Given the description of an element on the screen output the (x, y) to click on. 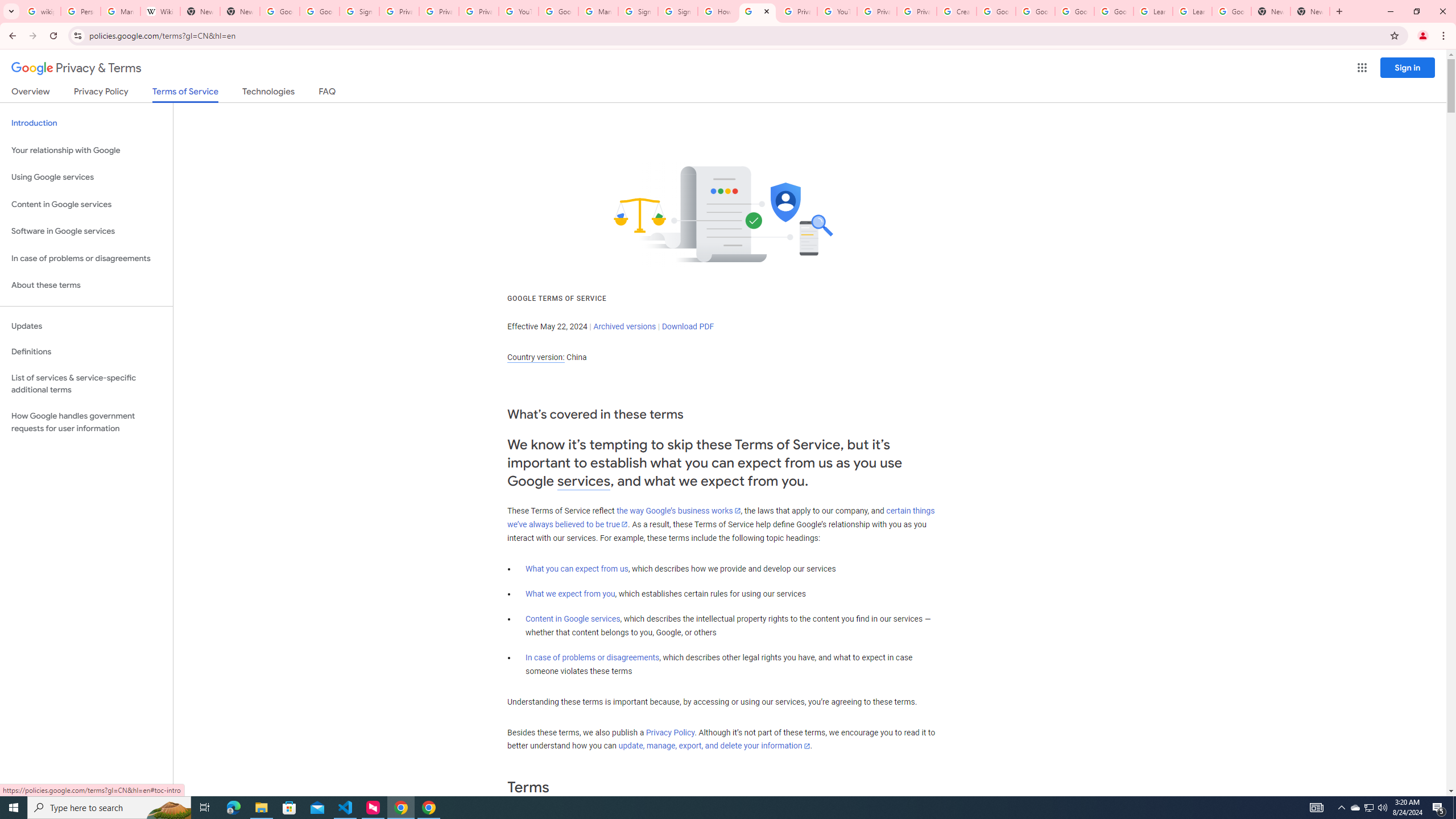
FAQ (327, 93)
Introduction (86, 122)
Content in Google services (572, 618)
Definitions (86, 352)
